Given the description of an element on the screen output the (x, y) to click on. 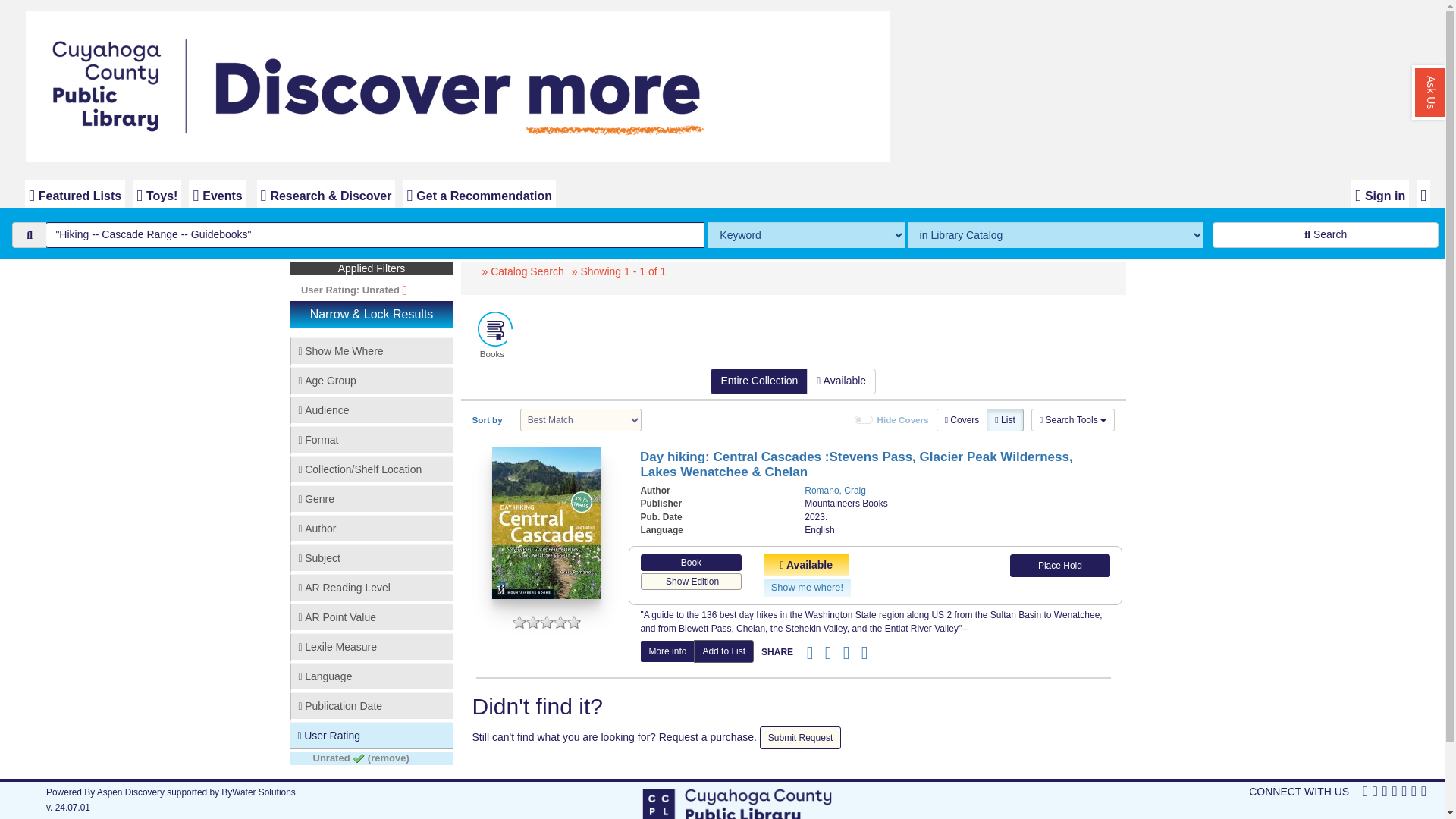
 Search (1325, 234)
on (863, 420)
Events (217, 194)
"Hiking -- Cascade Range -- Guidebooks" (375, 234)
Featured Lists (74, 194)
Get a Recommendation (479, 194)
Sign in (1380, 194)
Show Menu (1422, 194)
Toys! (156, 194)
Login (1380, 194)
